Given the description of an element on the screen output the (x, y) to click on. 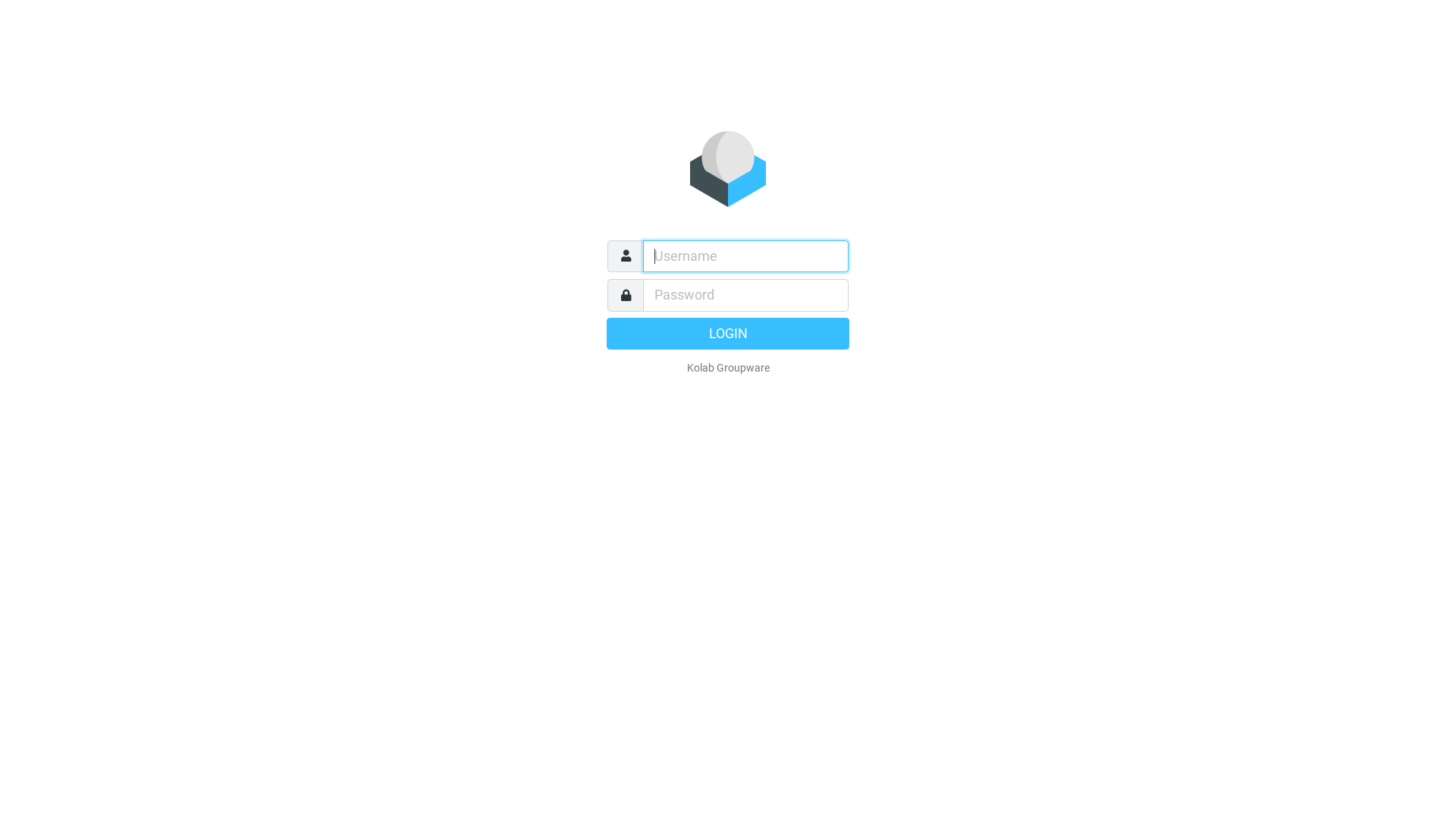
LOGIN Element type: text (727, 332)
